Given the description of an element on the screen output the (x, y) to click on. 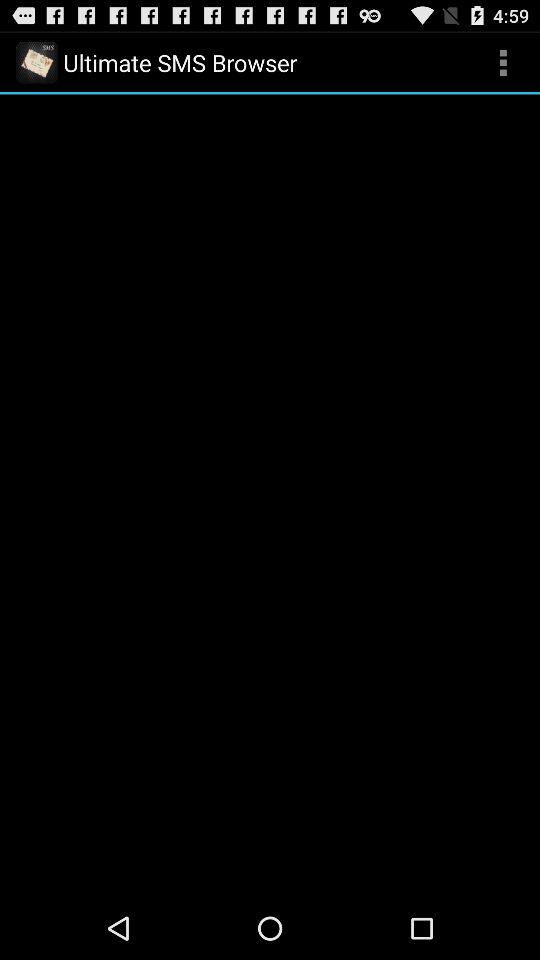
open item next to the ultimate sms browser item (503, 62)
